Given the description of an element on the screen output the (x, y) to click on. 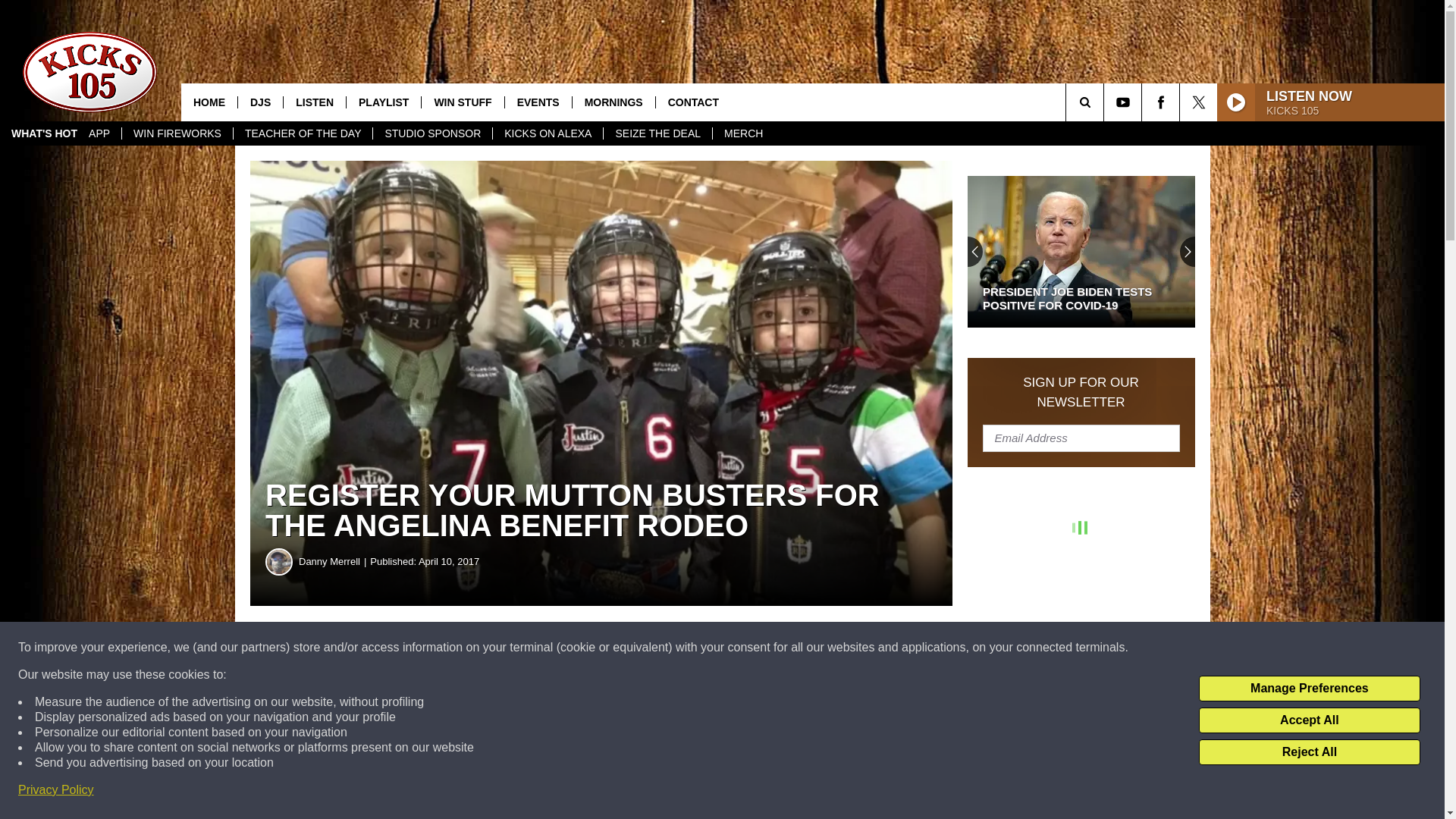
HOME (208, 102)
TEACHER OF THE DAY (302, 133)
STUDIO SPONSOR (432, 133)
Manage Preferences (1309, 688)
Share on Twitter (741, 647)
Privacy Policy (55, 789)
WIN FIREWORKS (176, 133)
SEARCH (1106, 102)
EVENTS (537, 102)
PLAYLIST (383, 102)
Accept All (1309, 720)
KICKS ON ALEXA (547, 133)
Share on Facebook (460, 647)
APP (98, 133)
DJS (259, 102)
